Given the description of an element on the screen output the (x, y) to click on. 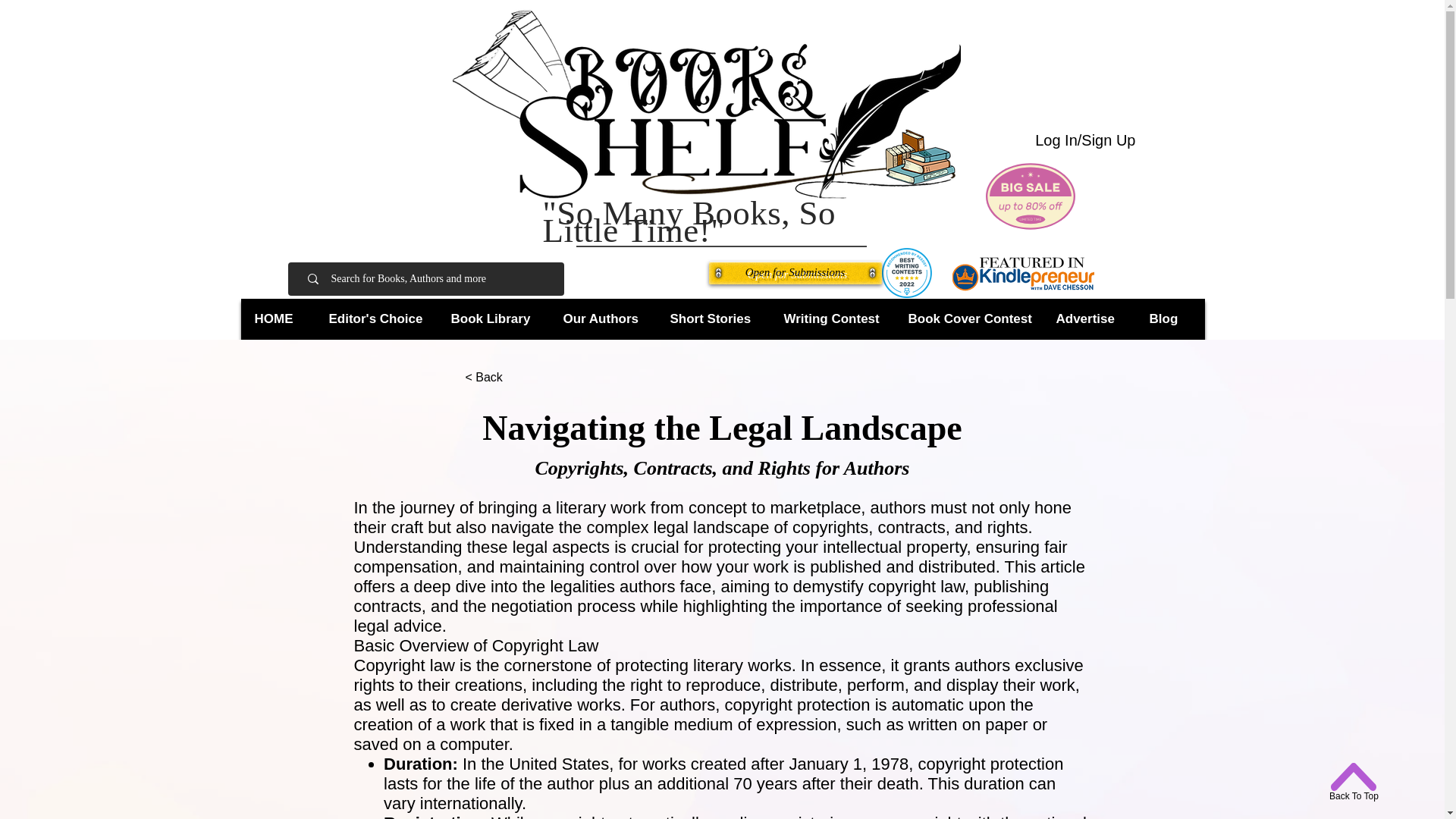
Editor's Choice (378, 319)
BooksShelf (705, 104)
HOME (279, 319)
Short Stories (714, 319)
